Given the description of an element on the screen output the (x, y) to click on. 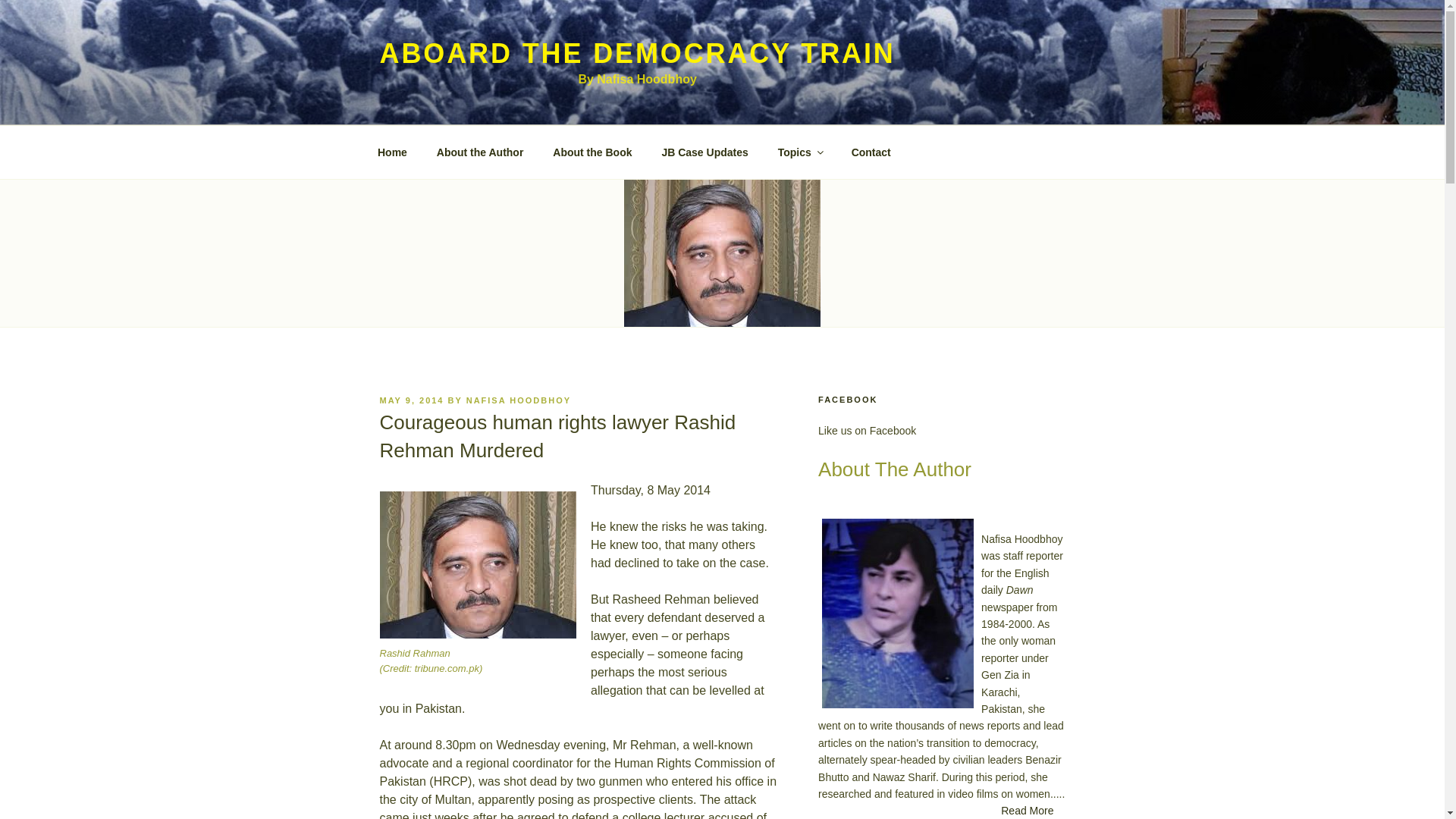
NAFISA HOODBHOY (517, 399)
Home (392, 151)
Topics (799, 151)
JB Case Updates (704, 151)
MAY 9, 2014 (411, 399)
About the Author (480, 151)
About the Book (592, 151)
Contact (871, 151)
About The Author (941, 469)
ABOARD THE DEMOCRACY TRAIN (636, 52)
Read More (1026, 810)
